Given the description of an element on the screen output the (x, y) to click on. 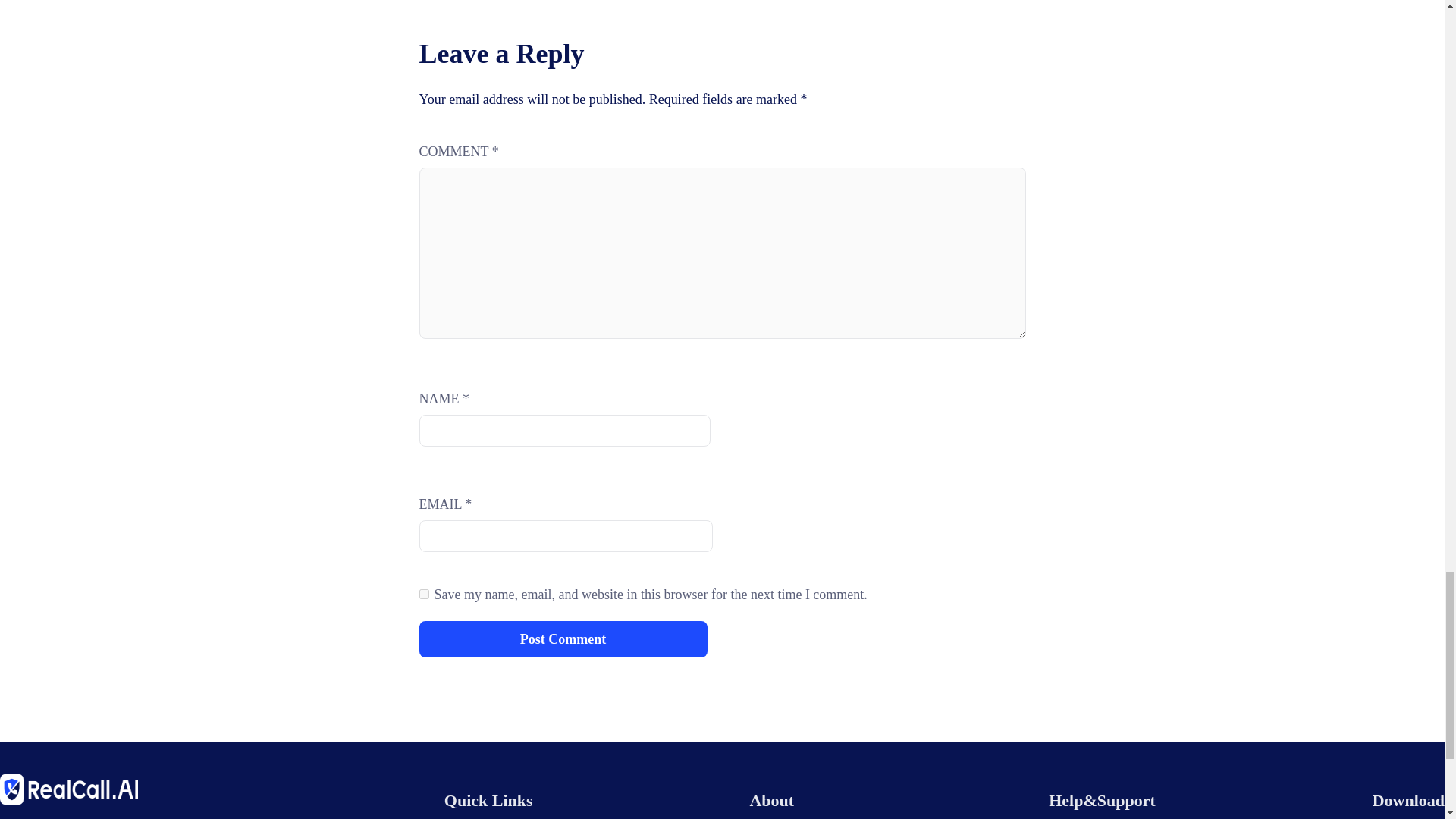
Post Comment (562, 638)
Post Comment (562, 638)
yes (423, 593)
